Given the description of an element on the screen output the (x, y) to click on. 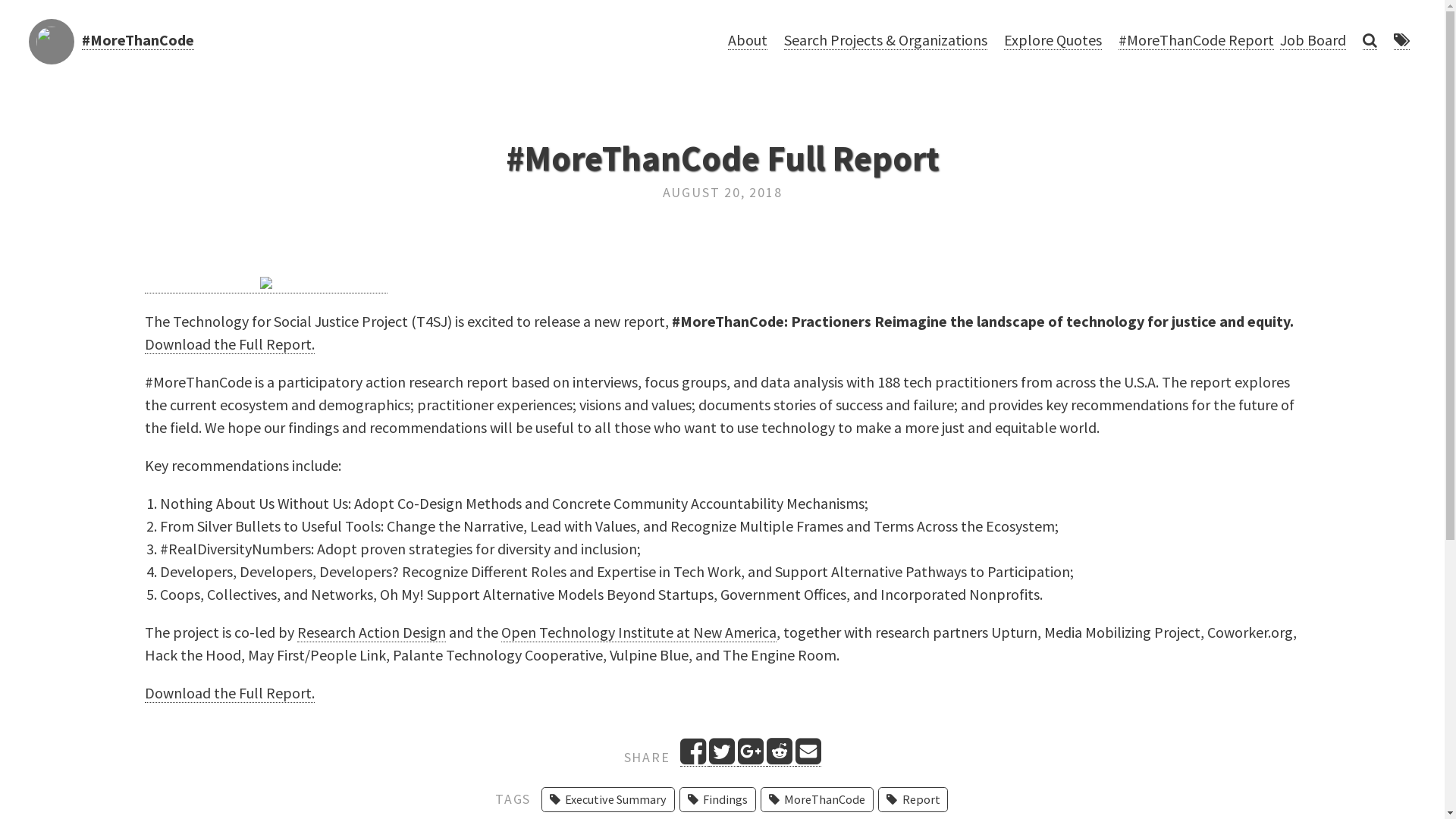
Open Technology Institute at New America Element type: text (637, 632)
Job Board Element type: text (1313, 41)
MoreThanCode Element type: text (816, 799)
Email Element type: text (807, 756)
Download the Full Report. Element type: text (228, 692)
Download the Full Report. Element type: text (228, 344)
Search Projects & Organizations Element type: text (885, 41)
About Element type: text (747, 41)
Share on Reddit Element type: text (779, 756)
#MoreThanCode Element type: text (137, 40)
Executive Summary Element type: text (607, 799)
Findings Element type: text (717, 799)
#MoreThanCode Report Element type: text (1196, 41)
Report Element type: text (912, 799)
Share on Google+ Element type: text (751, 756)
Tweet Element type: text (722, 756)
Share on Facebook Element type: text (693, 756)
Research Action Design Element type: text (371, 632)
Explore Quotes Element type: text (1052, 41)
